Given the description of an element on the screen output the (x, y) to click on. 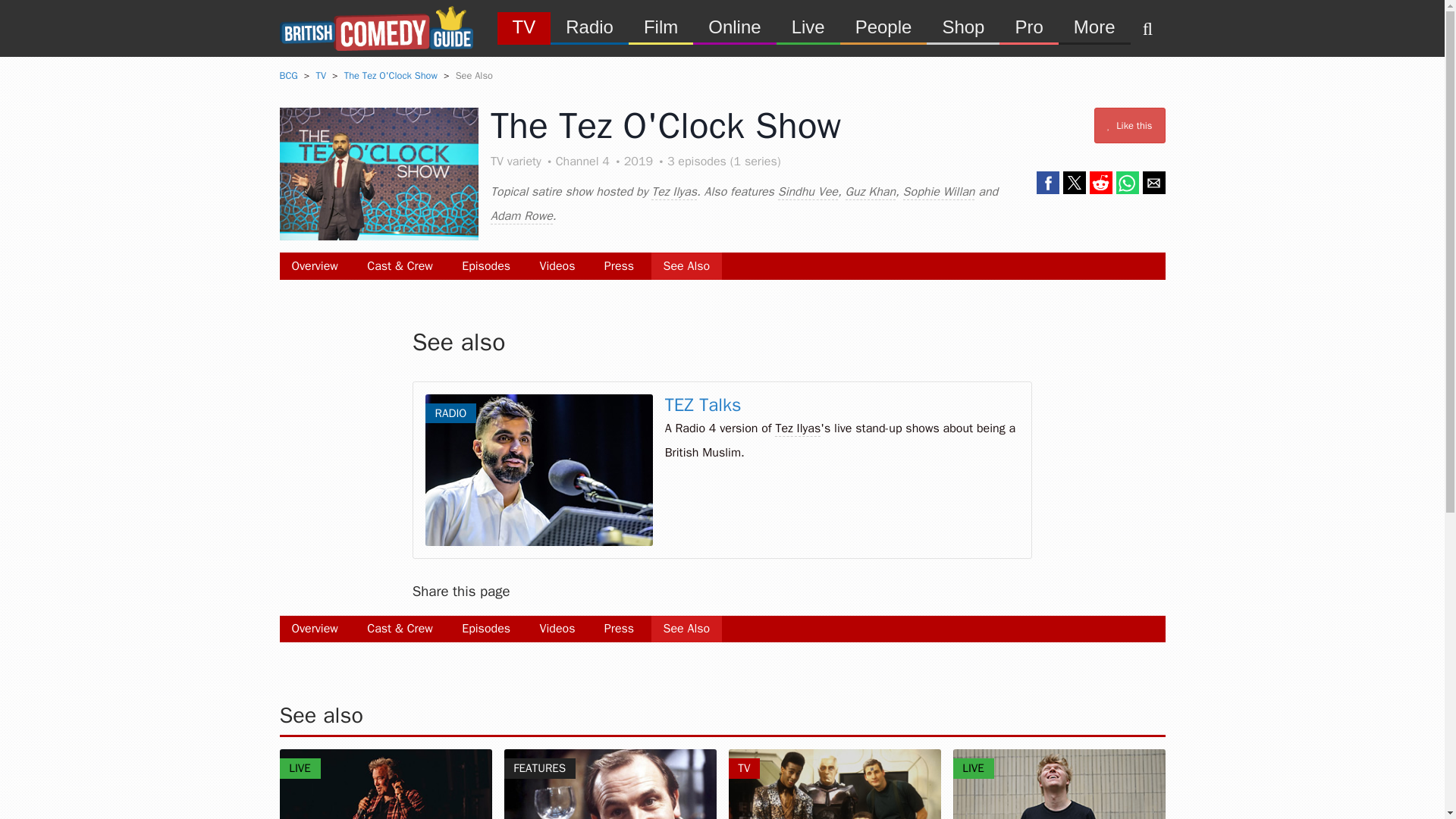
Online (734, 26)
Tez Ilyas (673, 191)
Adam Rowe (521, 216)
Radio (589, 26)
Overview (314, 628)
More (1094, 26)
Episodes (485, 265)
TV (524, 26)
Dima Watermelon (1058, 784)
Film (660, 26)
